Given the description of an element on the screen output the (x, y) to click on. 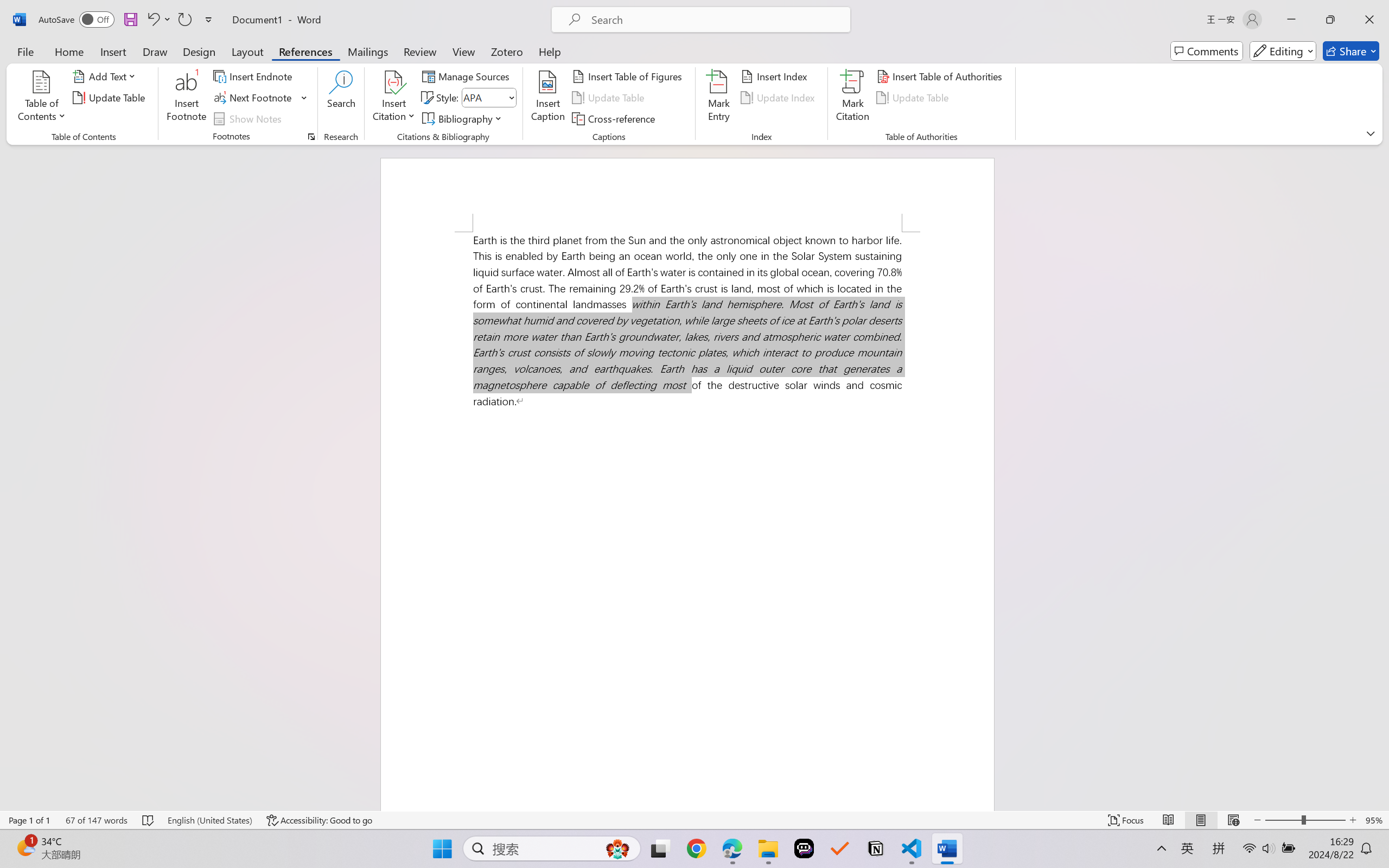
Insert Caption... (547, 97)
Mark Entry... (718, 97)
Bibliography (463, 118)
Repeat Doc Close (184, 19)
Open (510, 97)
Page 1 content (687, 521)
Next Footnote (260, 97)
Help (549, 51)
Show Notes (248, 118)
Mark Citation... (852, 97)
